Given the description of an element on the screen output the (x, y) to click on. 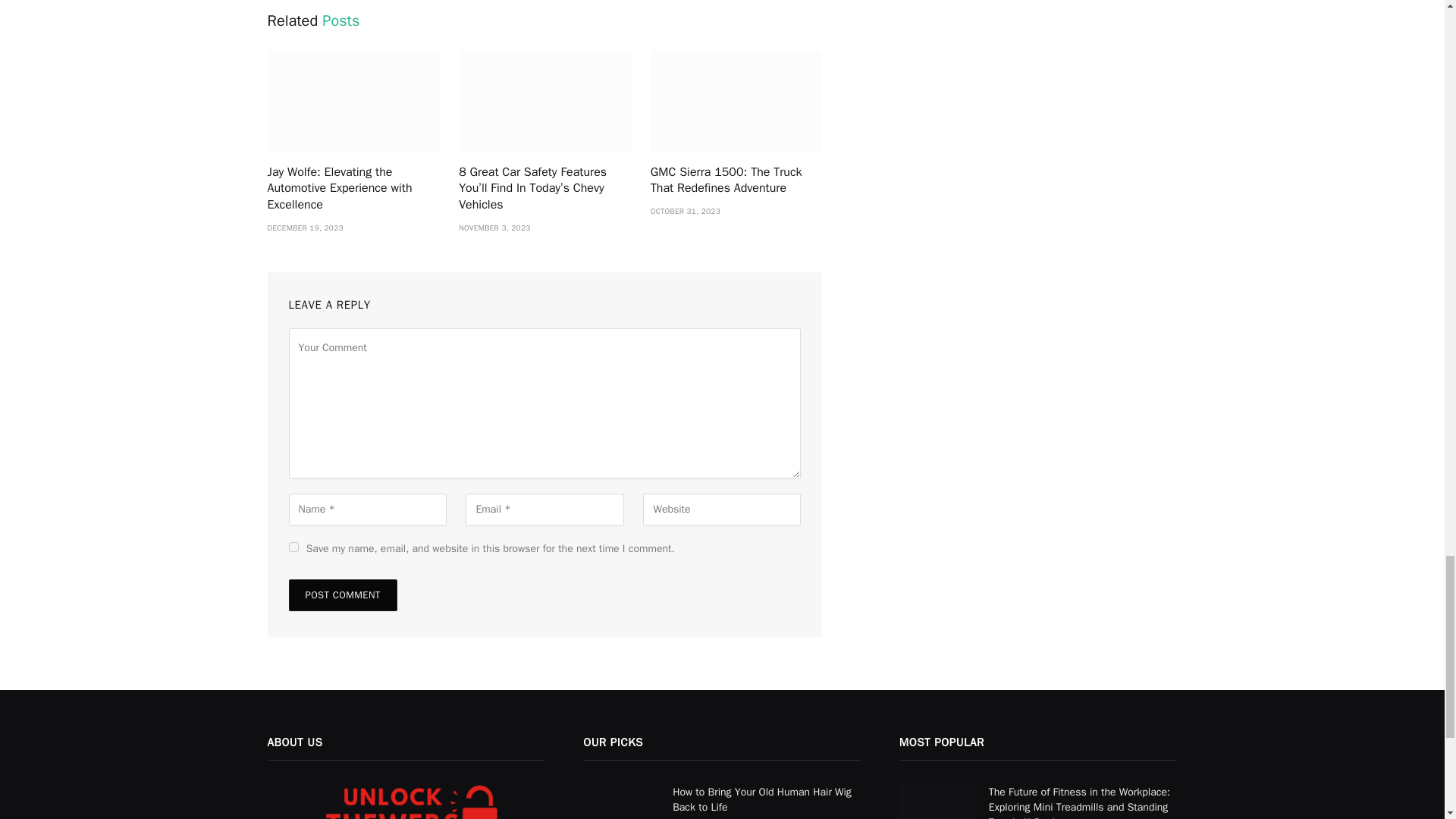
yes (293, 547)
Post Comment (342, 594)
